Given the description of an element on the screen output the (x, y) to click on. 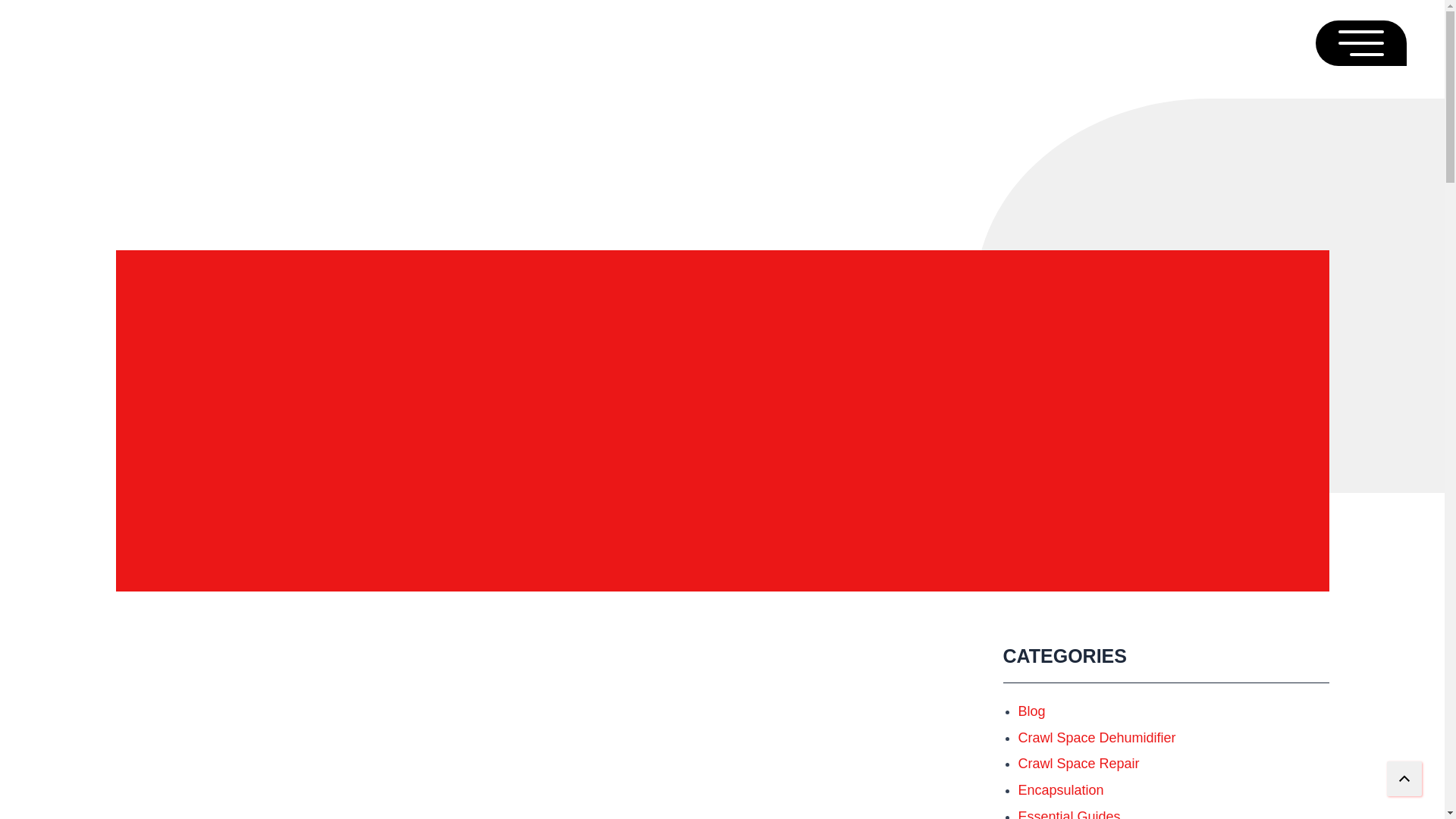
Scroll to Top (1404, 778)
